Given the description of an element on the screen output the (x, y) to click on. 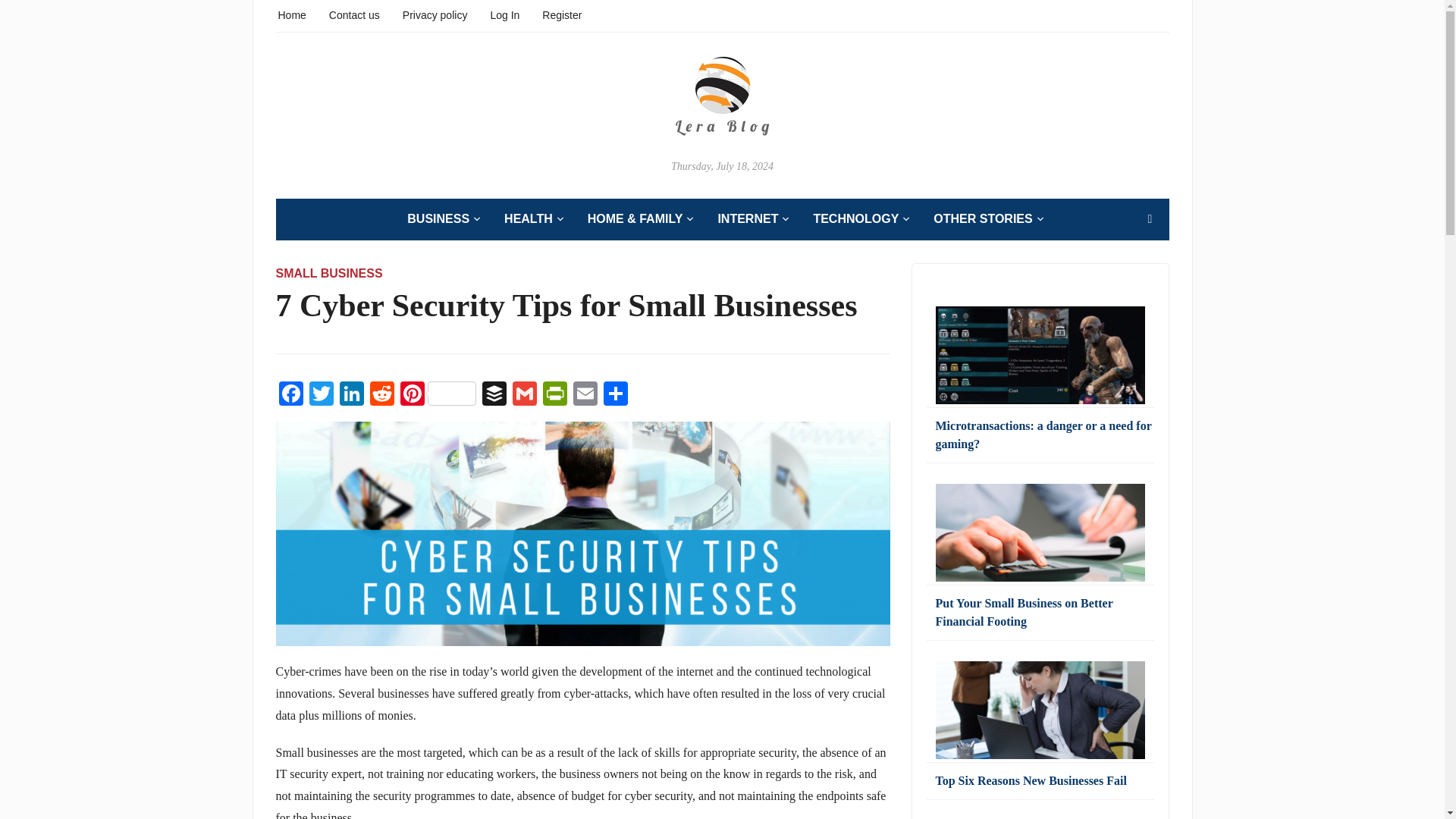
Facebook (290, 395)
Buffer (494, 395)
Email (584, 395)
Twitter (320, 395)
Reddit (381, 395)
PrintFriendly (555, 395)
LinkedIn (351, 395)
Gmail (524, 395)
Pinterest (438, 395)
